Given the description of an element on the screen output the (x, y) to click on. 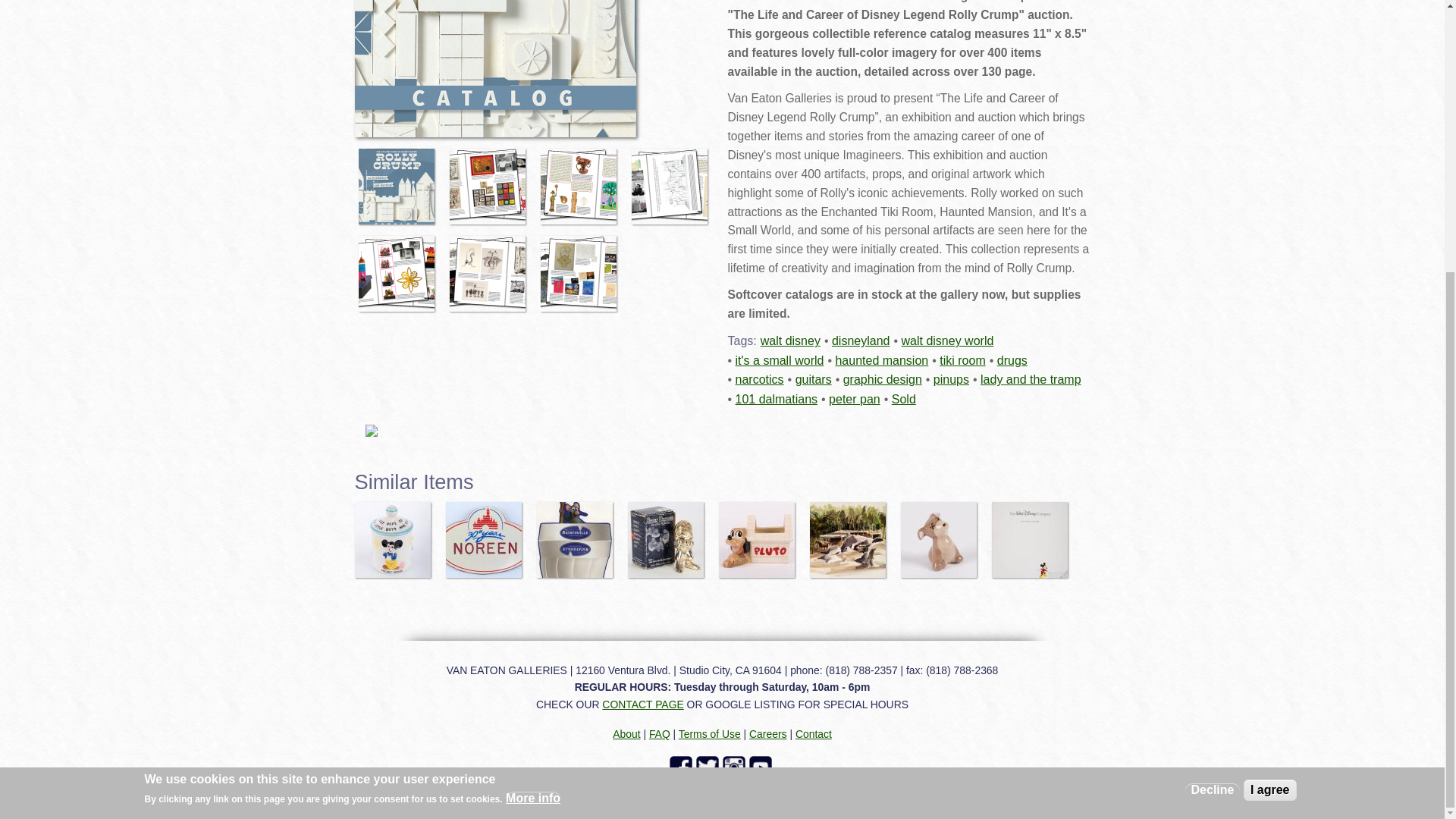
pinups (951, 379)
walt disney world (946, 340)
haunted mansion (881, 359)
drugs (1012, 359)
tiki room (962, 359)
Softcover Rolly Crump Auction Catalog - ID: auc0007soft (491, 267)
Softcover Rolly Crump Auction Catalog - ID: auc0007soft (582, 179)
narcotics (759, 379)
guitars (812, 379)
Softcover Rolly Crump Auction Catalog - ID: auc0007soft (400, 179)
